Given the description of an element on the screen output the (x, y) to click on. 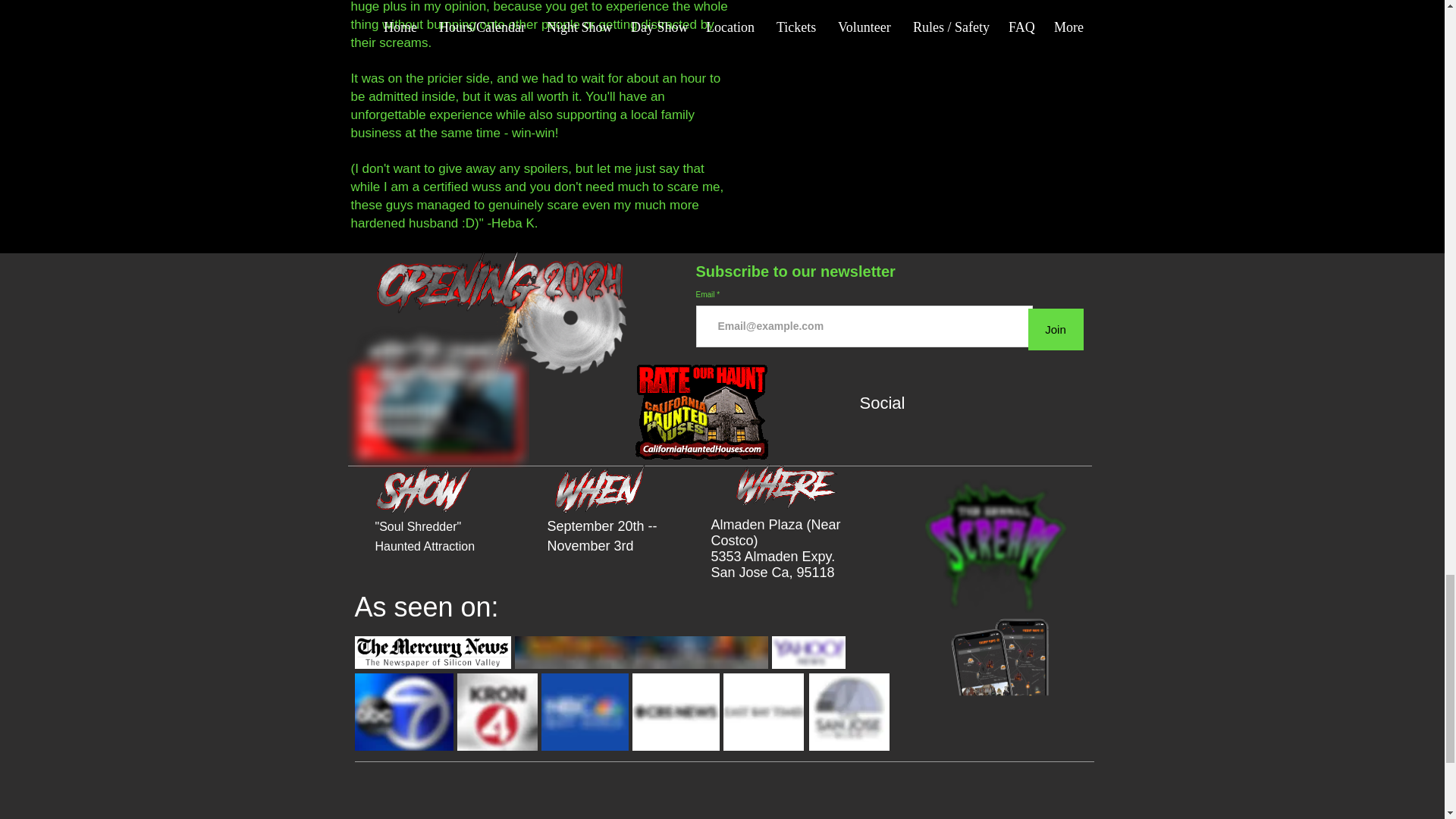
Join (1055, 329)
Haunt world.jpg (640, 652)
Opening 2024.gif (500, 317)
